Given the description of an element on the screen output the (x, y) to click on. 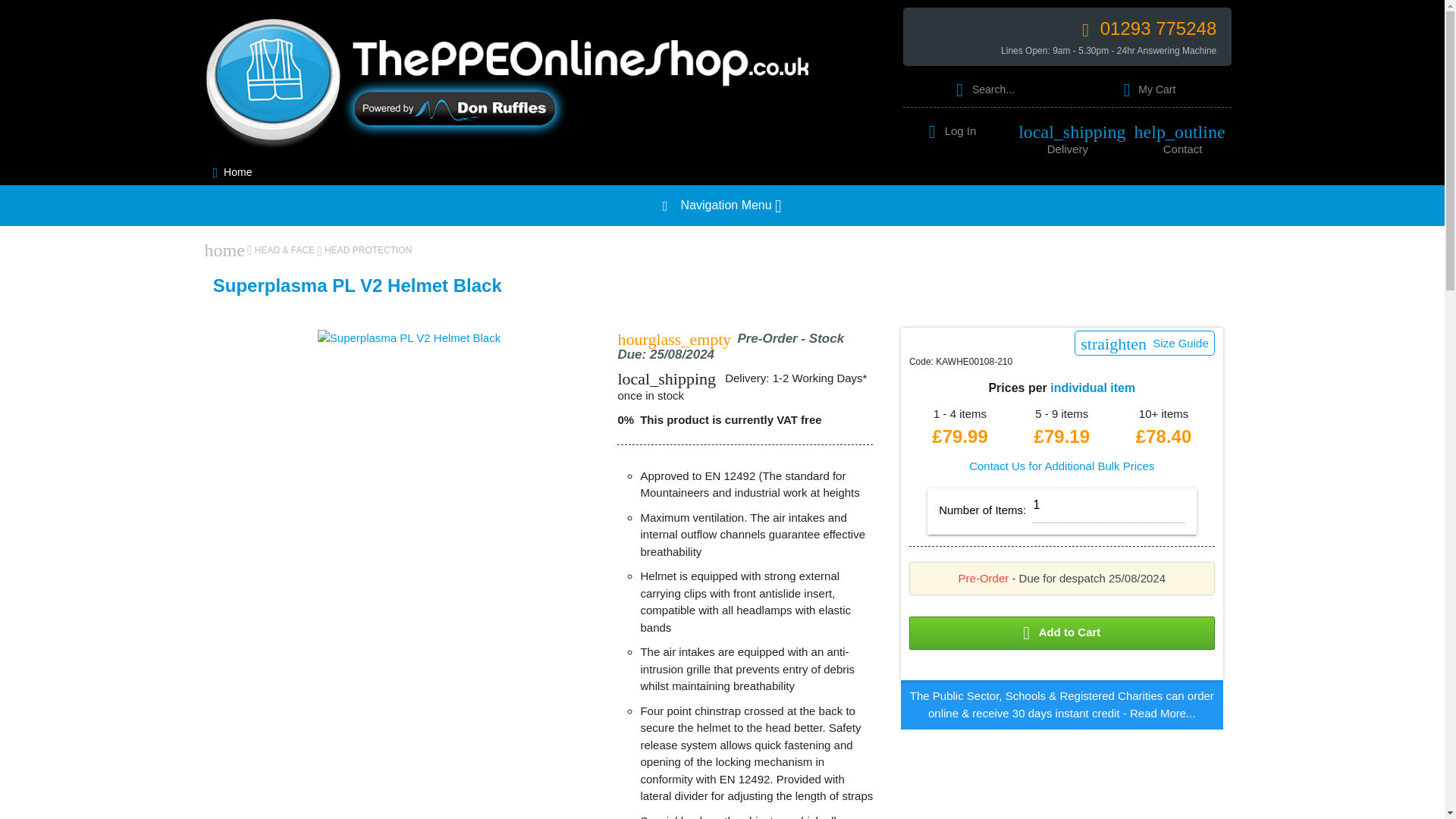
Superplasma PL V2 Helmet Black (408, 338)
1 (1108, 505)
 Superplasma PL V2 Helmet Black (408, 337)
